Given the description of an element on the screen output the (x, y) to click on. 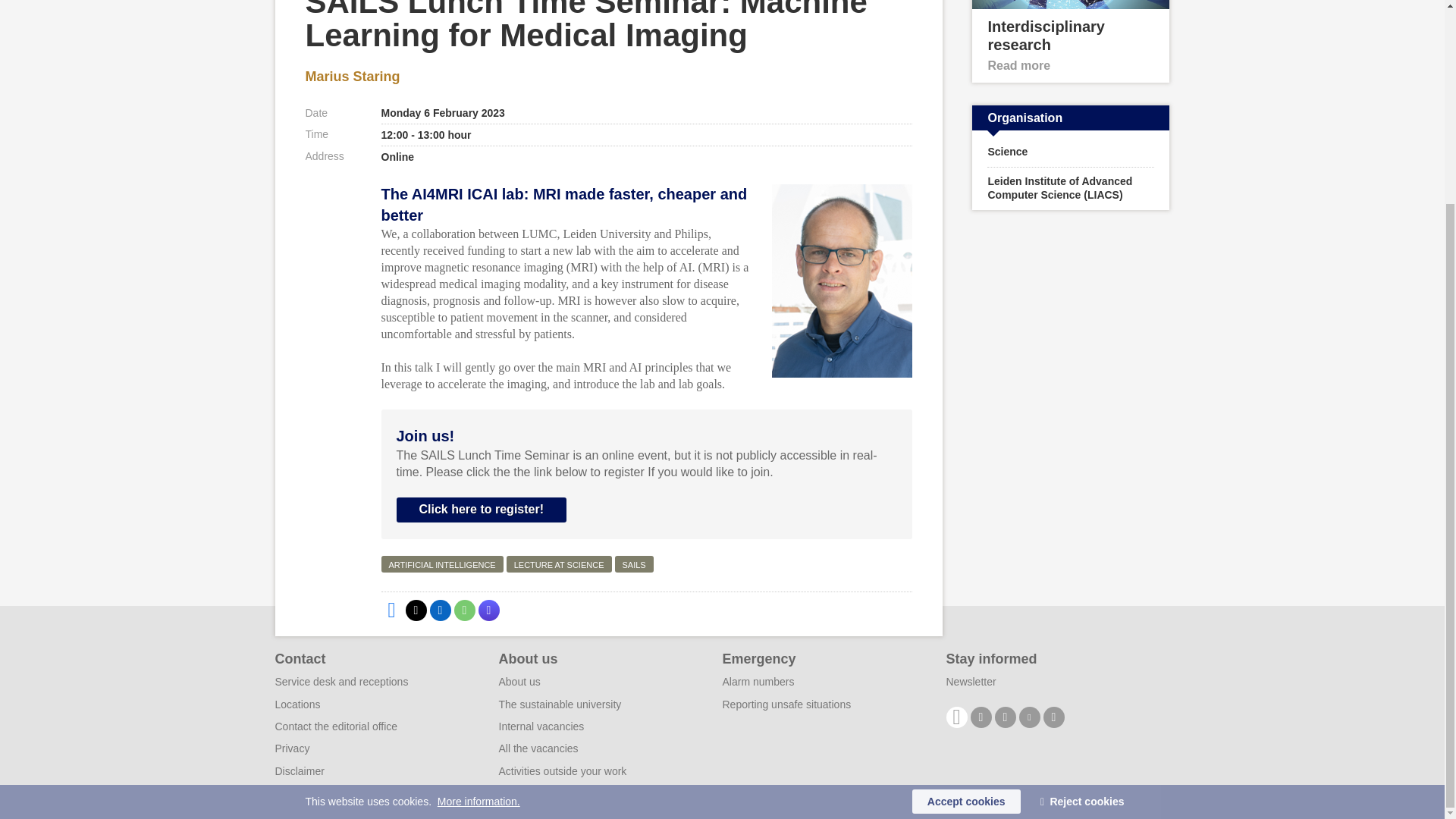
Click here to register! (481, 509)
Share by WhatsApp (463, 609)
Marius Staring (351, 76)
Share on X (415, 609)
Locations (297, 704)
ARTIFICIAL INTELLIGENCE (441, 564)
SAILS (633, 564)
LECTURE AT SCIENCE (558, 564)
Service desk and receptions (341, 681)
Share by Mastodon (488, 609)
